Given the description of an element on the screen output the (x, y) to click on. 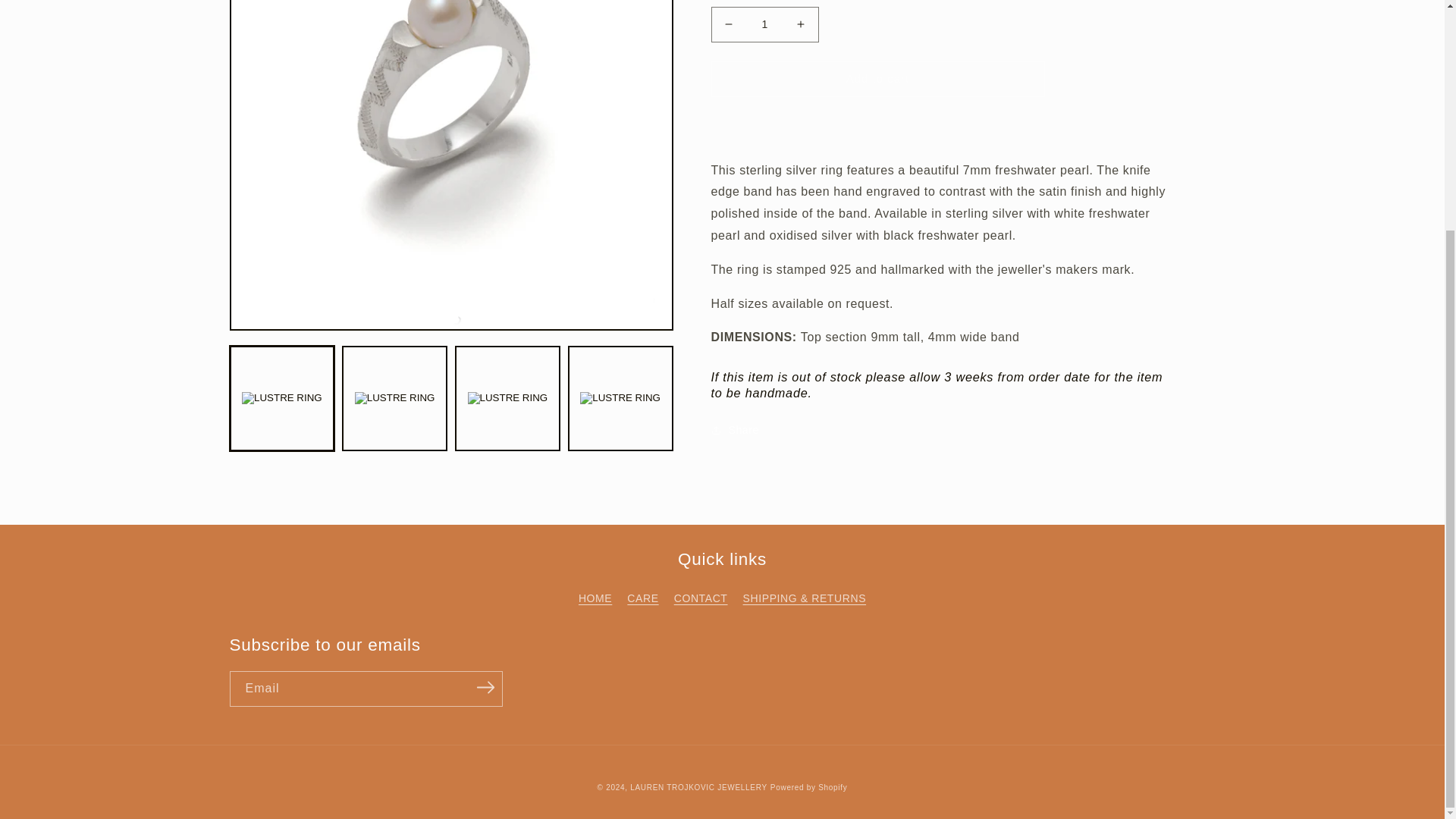
Add to cart (878, 79)
Decrease quantity for LUSTRE RING (728, 24)
Increase quantity for LUSTRE RING (801, 24)
1 (764, 24)
